Given the description of an element on the screen output the (x, y) to click on. 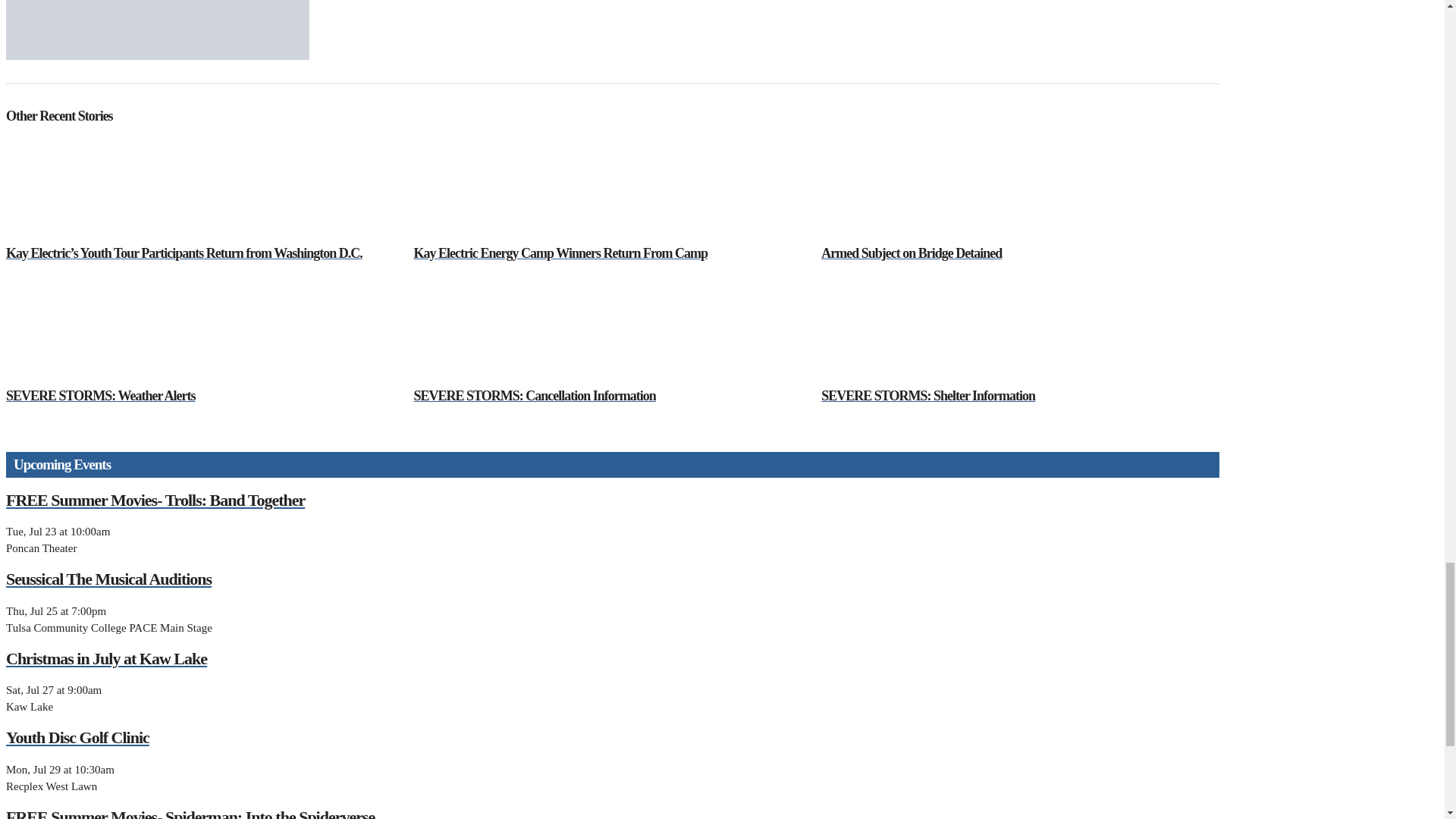
Kay Electric Energy Camp Winners Return From Camp (611, 189)
